Given the description of an element on the screen output the (x, y) to click on. 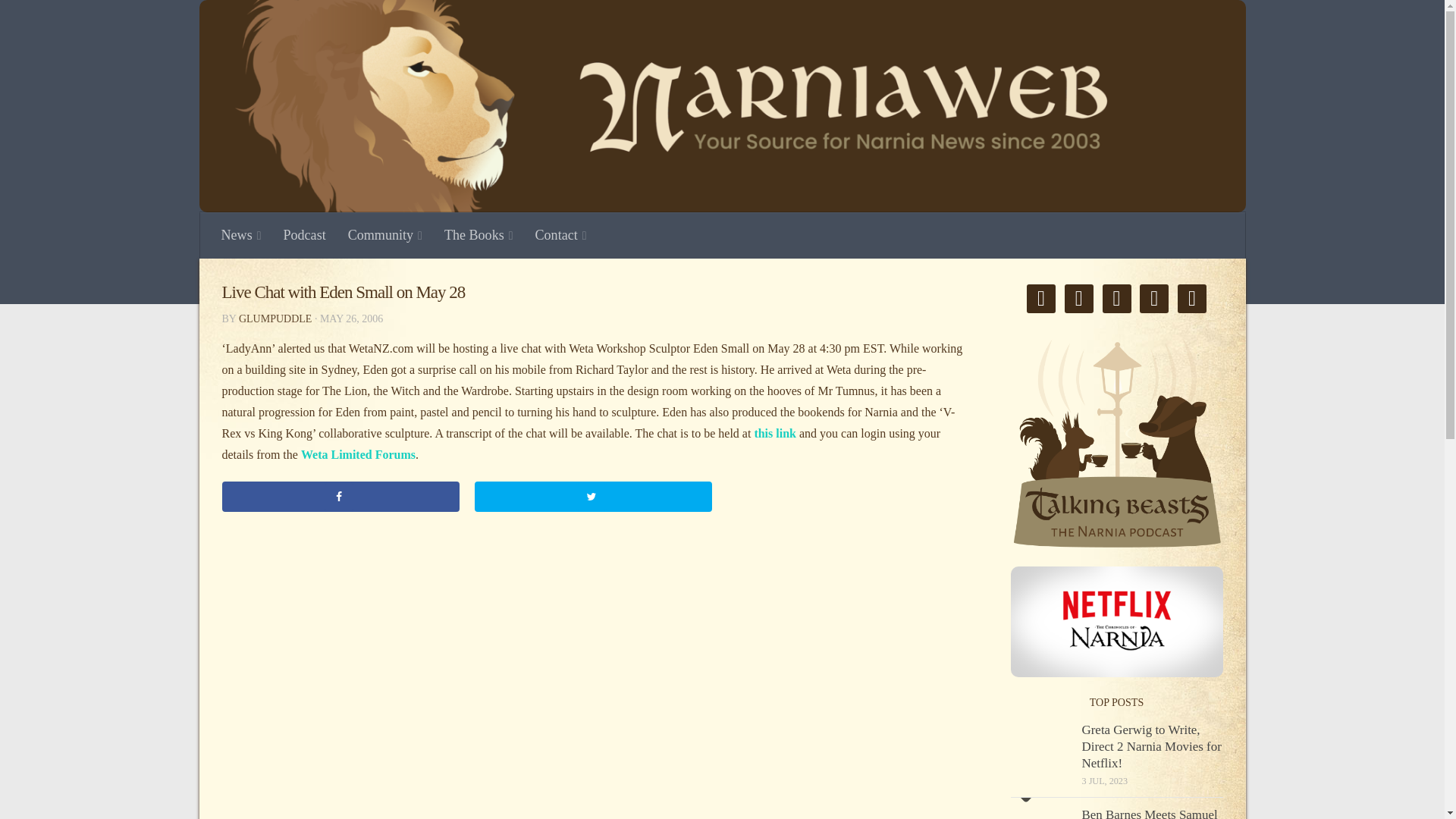
Contact (561, 235)
Default Label (1154, 297)
Posts by Glumpuddle (274, 318)
The Books (478, 235)
GLUMPUDDLE (274, 318)
Share on Twitter (593, 496)
Default Label (1078, 297)
Twitter (1116, 297)
Instagram (1192, 297)
Facebook (1040, 297)
Share on Facebook (340, 496)
News (242, 235)
Podcast (304, 235)
Weta Limited Forums (357, 454)
